Given the description of an element on the screen output the (x, y) to click on. 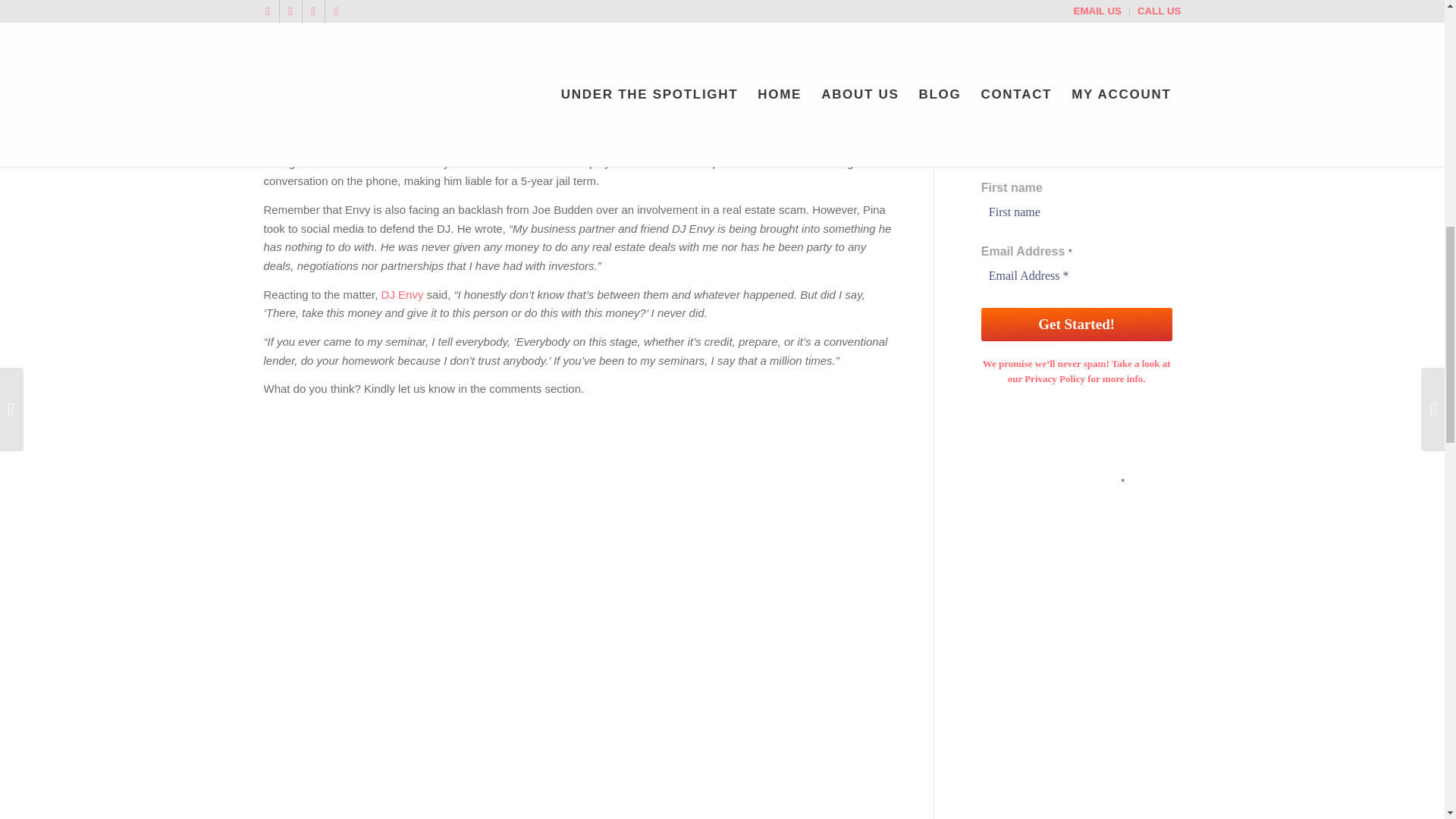
Top Stories (421, 81)
DJ Envy (402, 294)
0 Comments (352, 81)
emoxiwriter2022 (504, 81)
Posts by emoxiwriter2022 (504, 81)
Get Started! (1076, 324)
conversation (561, 114)
